Given the description of an element on the screen output the (x, y) to click on. 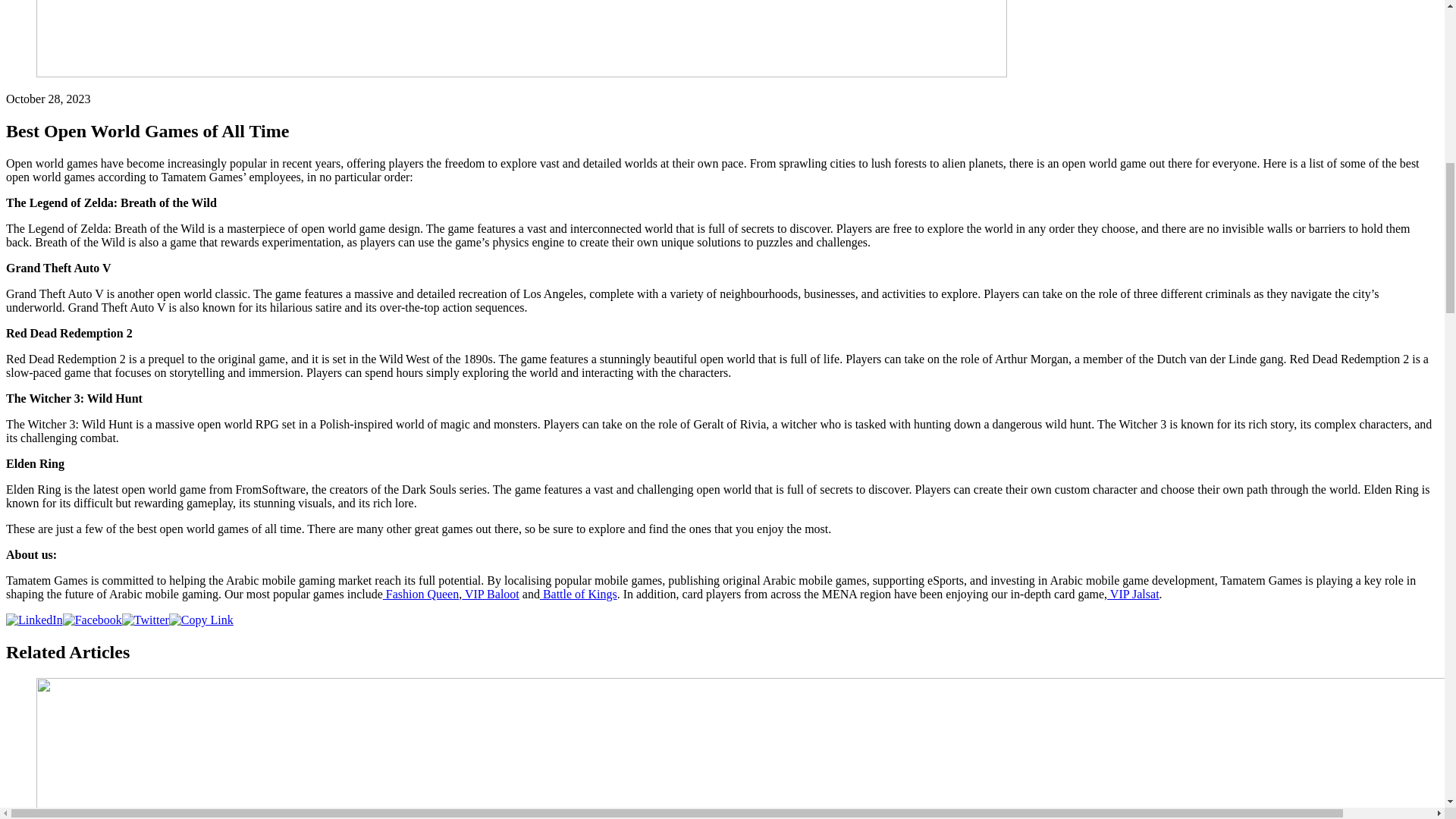
VIP Jalsat (1132, 594)
Twitter (145, 619)
Facebook (92, 619)
LinkedIn (33, 619)
Copy Link (200, 619)
Battle of Kings (578, 594)
VIP Baloot (490, 594)
Fashion Queen (420, 594)
